Given the description of an element on the screen output the (x, y) to click on. 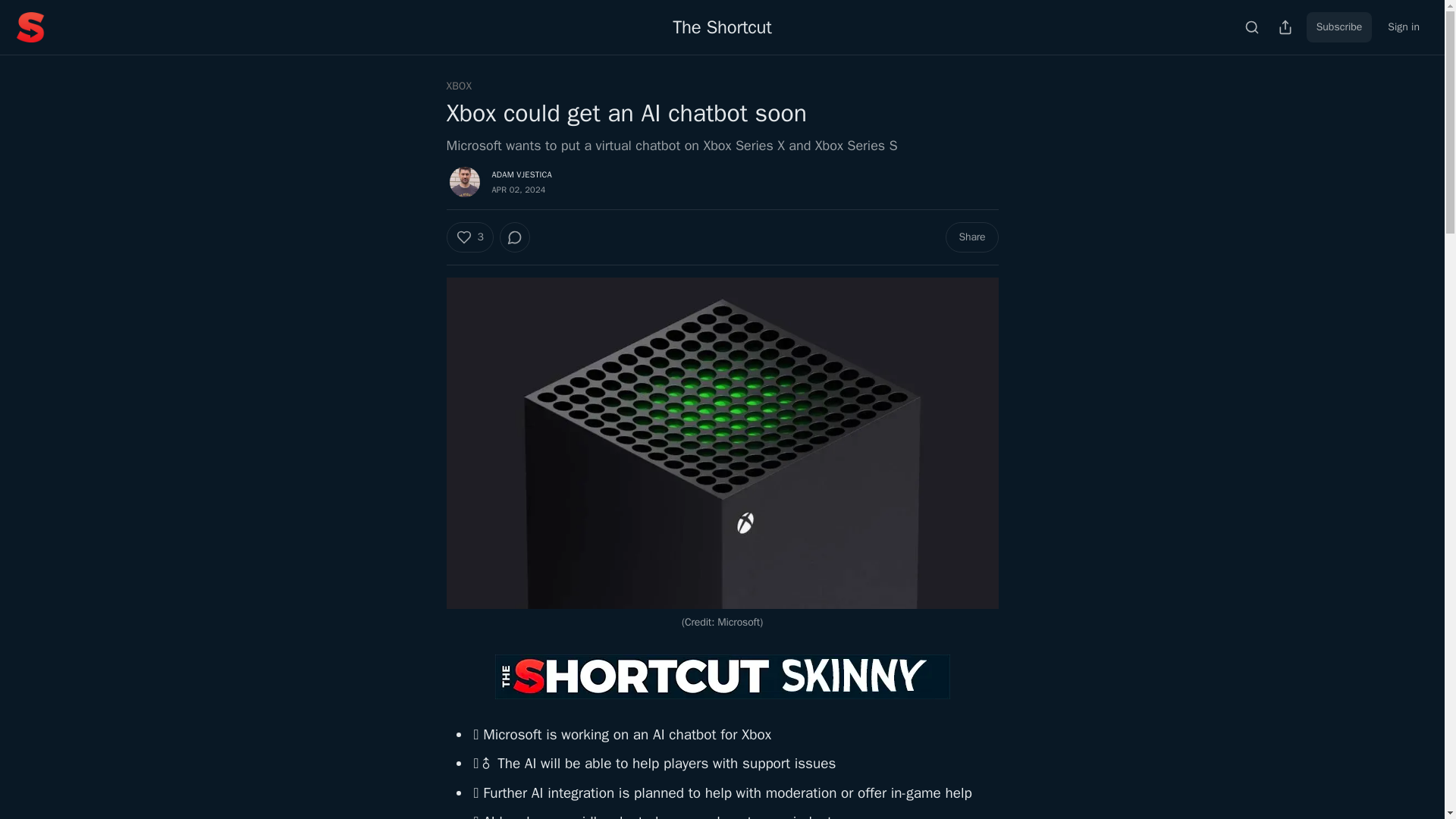
Sign in (1403, 27)
XBOX (458, 86)
Subscribe (1339, 27)
Share (970, 236)
ADAM VJESTICA (521, 173)
The Shortcut (721, 26)
3 (469, 236)
